Given the description of an element on the screen output the (x, y) to click on. 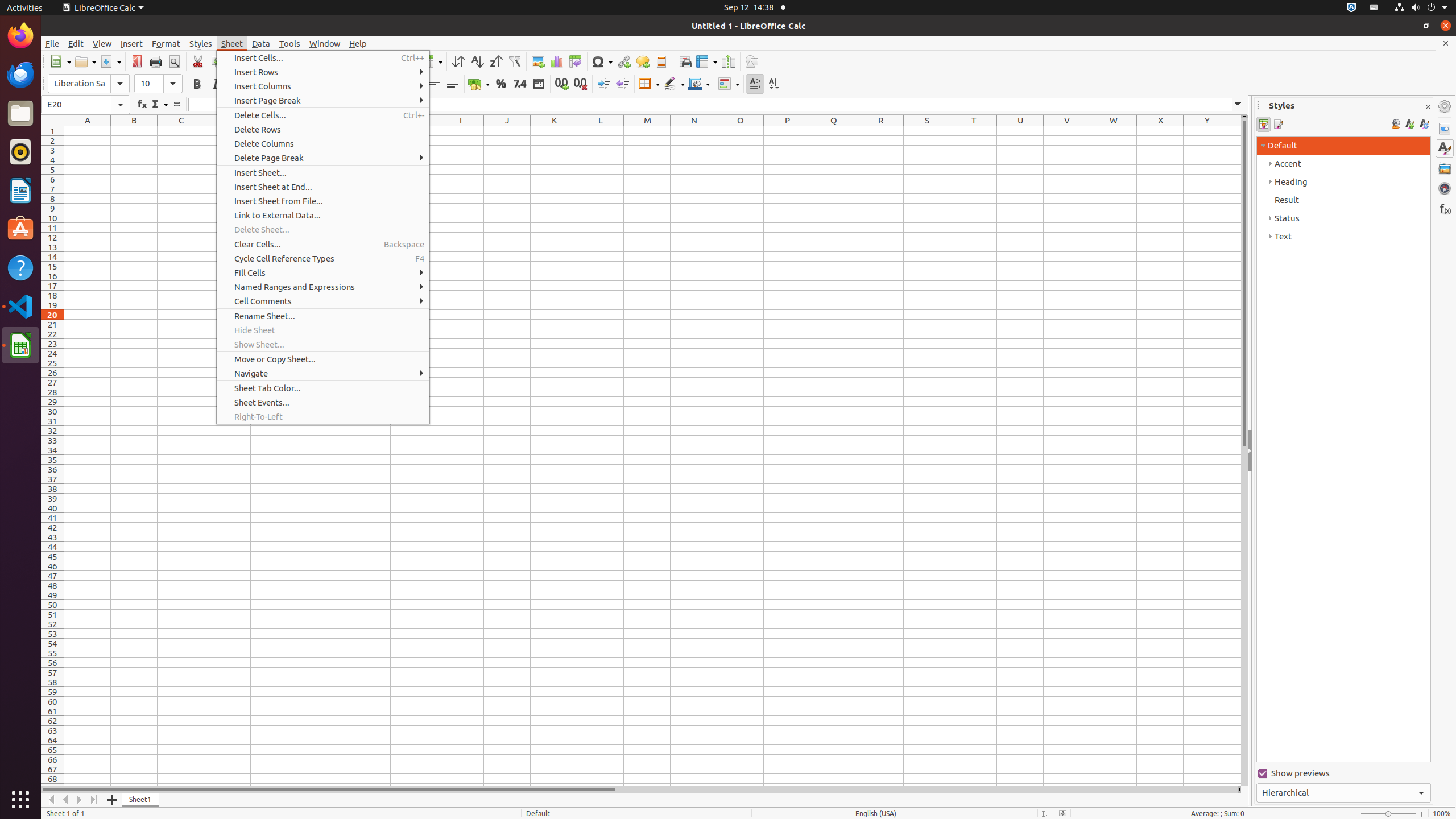
Insert Element type: menu (131, 43)
Navigate Element type: menu (322, 373)
Functions Element type: radio-button (1444, 208)
Move Left Element type: push-button (65, 799)
Number Element type: push-button (519, 83)
